Given the description of an element on the screen output the (x, y) to click on. 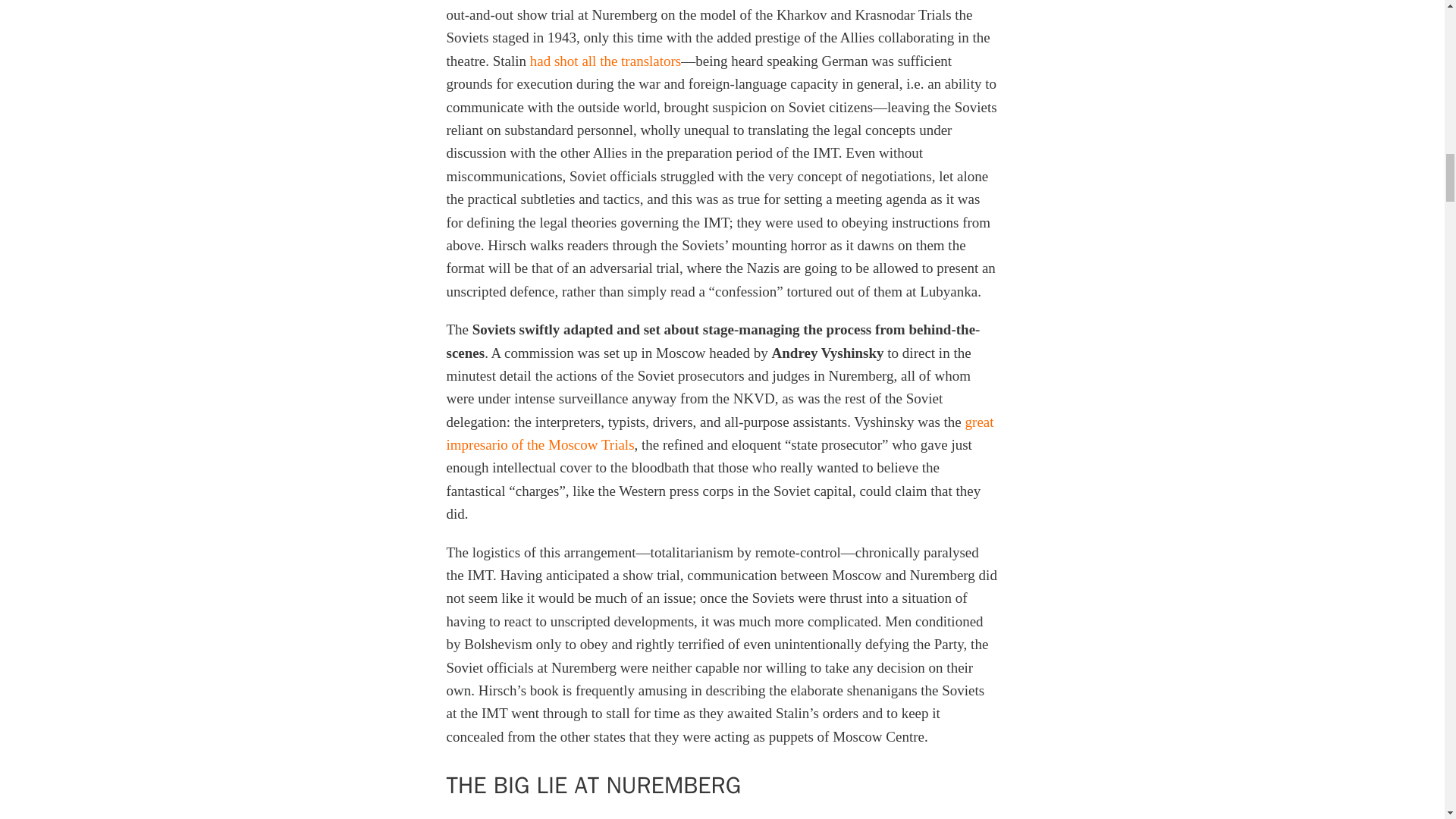
great impresario of the Moscow Trials (718, 433)
had shot all the translators (605, 60)
